Given the description of an element on the screen output the (x, y) to click on. 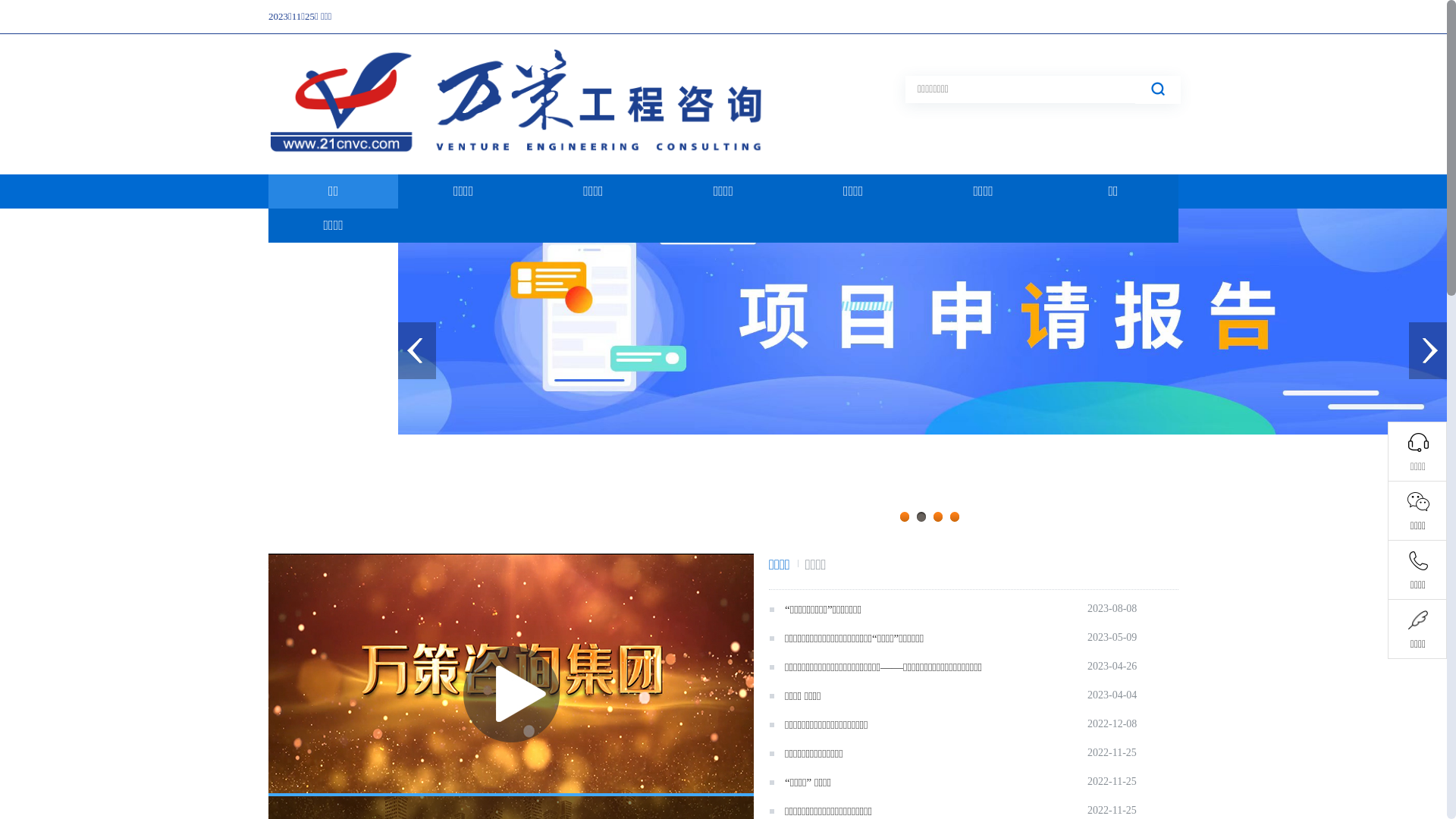
0 Element type: text (922, 373)
0 Element type: text (524, 164)
